Given the description of an element on the screen output the (x, y) to click on. 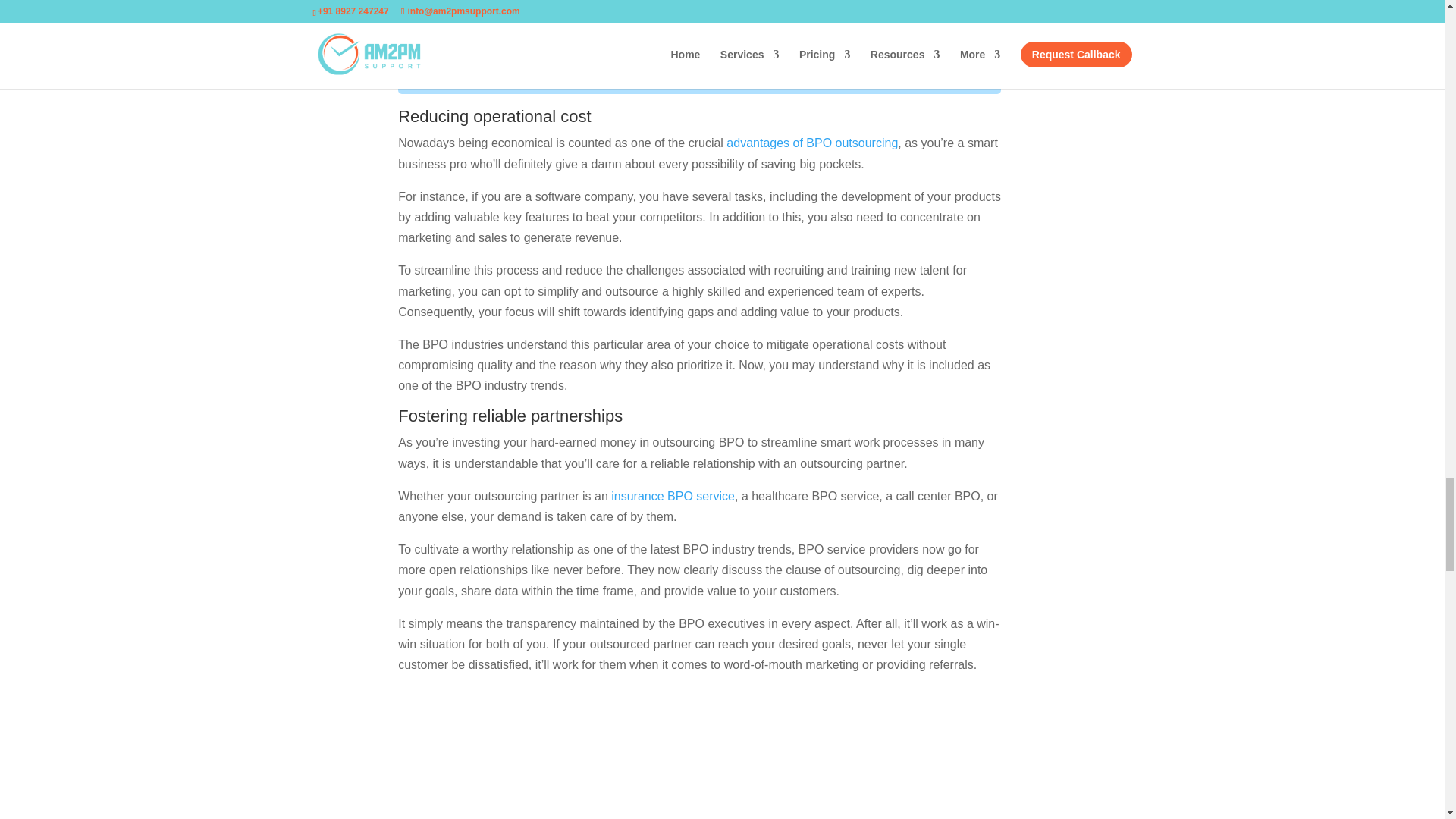
advantages of BPO outsourcing (812, 142)
insurance BPO service (673, 495)
BOOK A FREE CALL (699, 46)
